Given the description of an element on the screen output the (x, y) to click on. 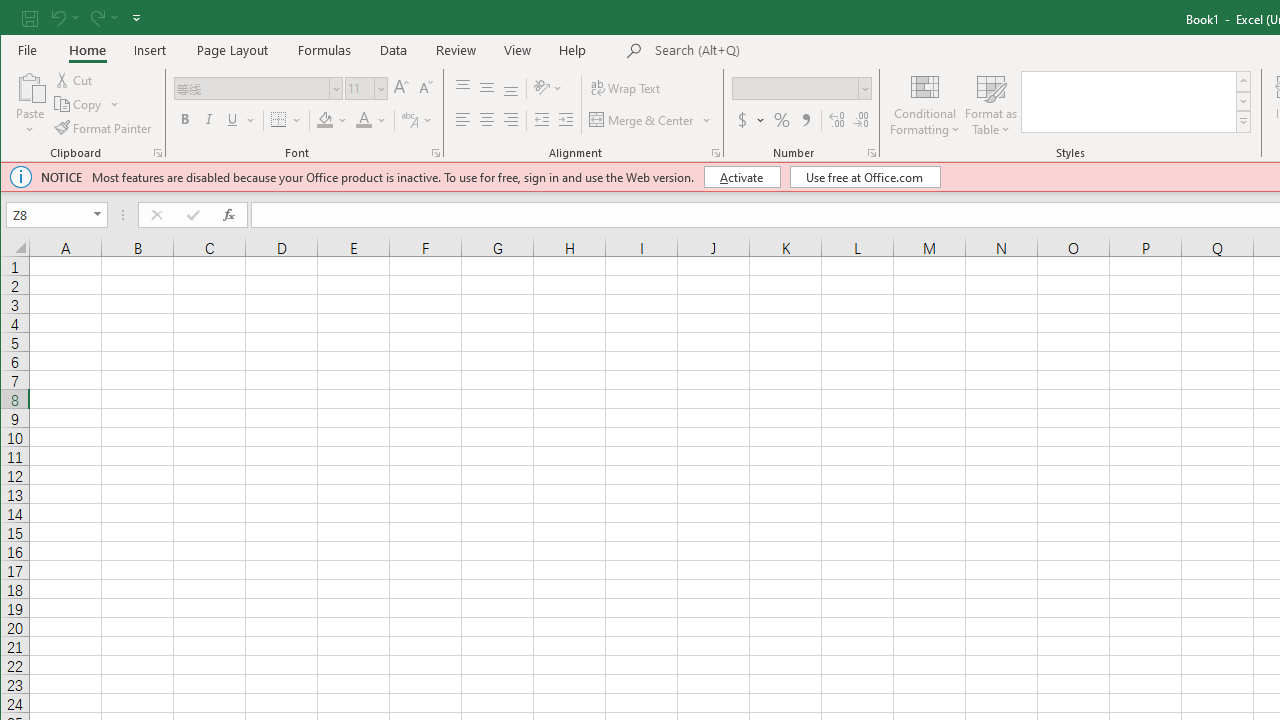
Increase Indent (566, 119)
Show Phonetic Field (417, 119)
Font (258, 88)
